Given the description of an element on the screen output the (x, y) to click on. 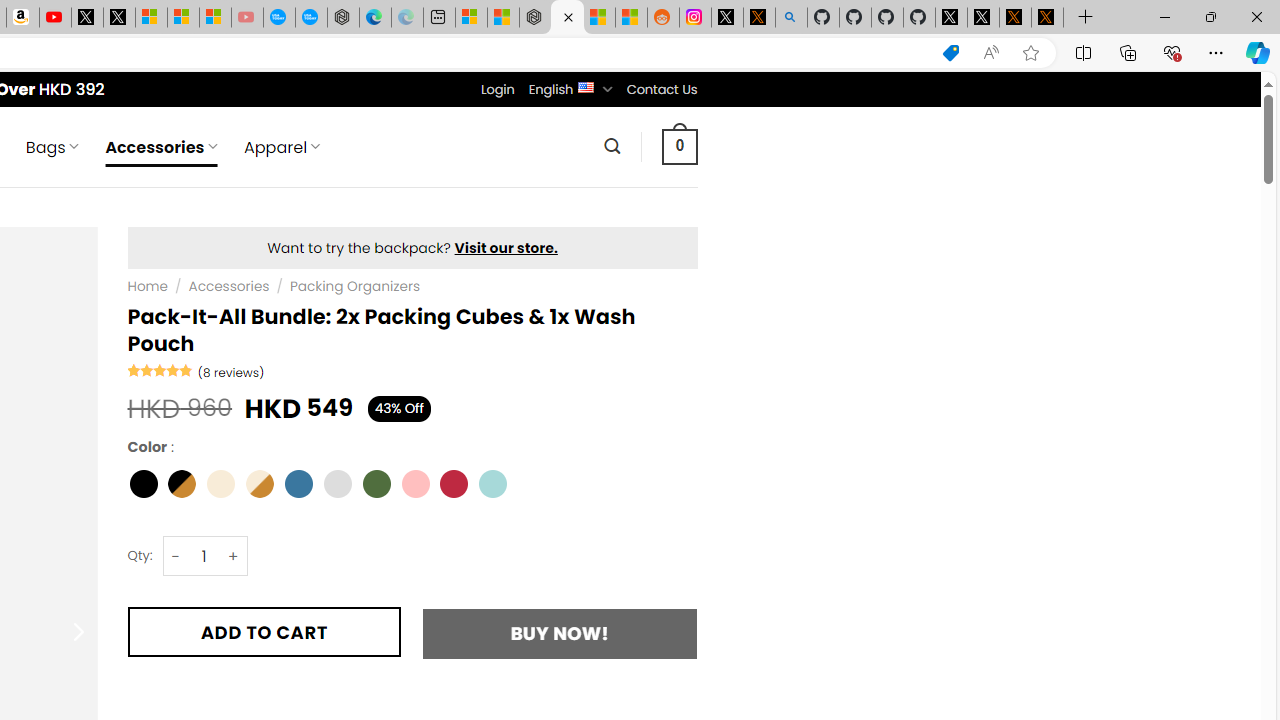
Gloom - YouTube - Sleeping (246, 17)
+ (234, 555)
help.x.com | 524: A timeout occurred (758, 17)
Contact Us (661, 89)
Rated 4.75 out of 5 (160, 369)
github - Search (791, 17)
 0  (679, 146)
Nordace - Best Sellers (535, 17)
Log in to X / X (727, 17)
